Given the description of an element on the screen output the (x, y) to click on. 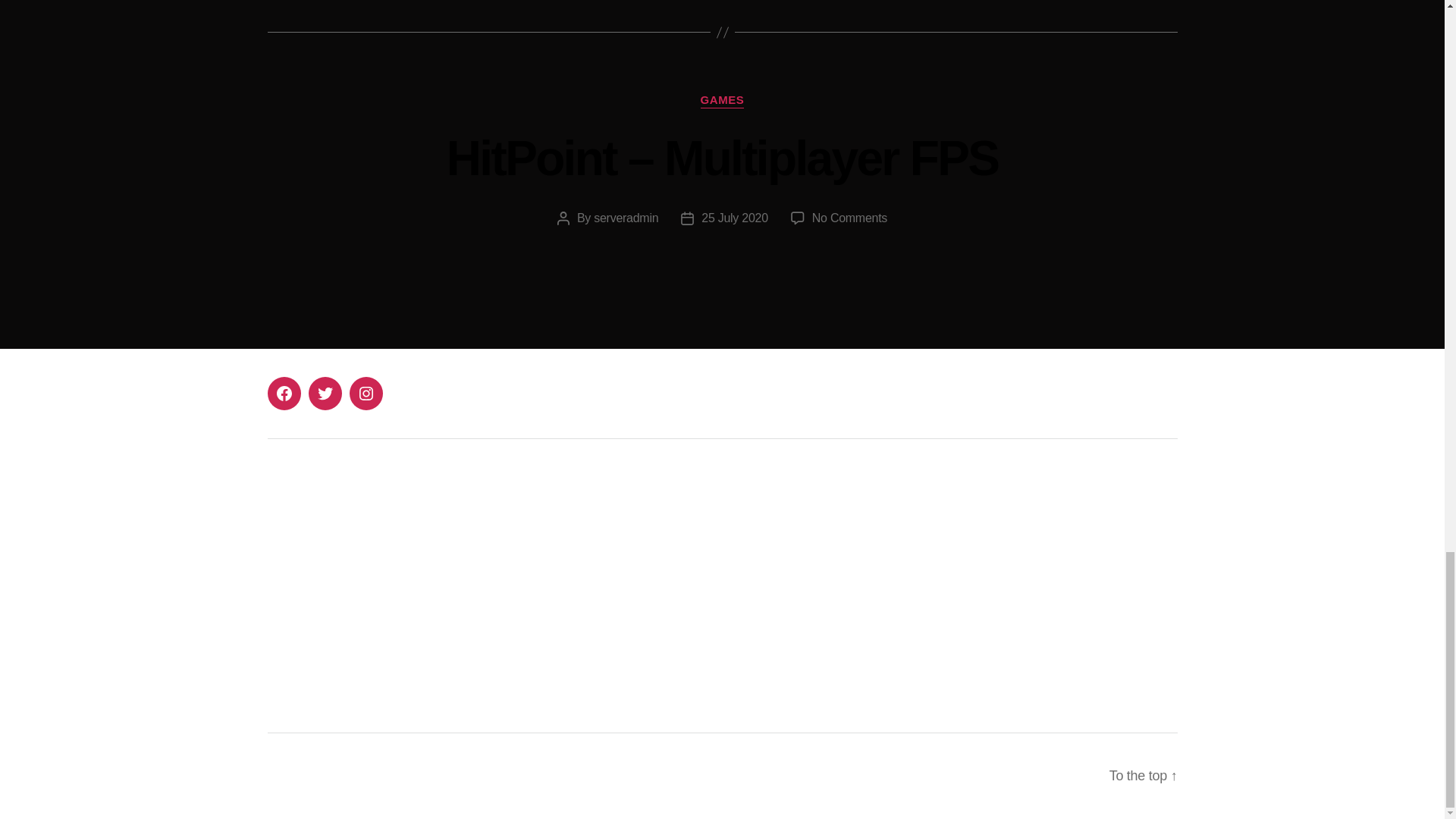
Central Information Systems Pty Ltd (463, 647)
serveradmin (626, 217)
GAMES (722, 100)
Facebook (798, 571)
Instagram (799, 610)
25 July 2020 (734, 217)
Twitter (323, 393)
Delusional (529, 659)
Facebook (282, 393)
Instagram (365, 393)
